Given the description of an element on the screen output the (x, y) to click on. 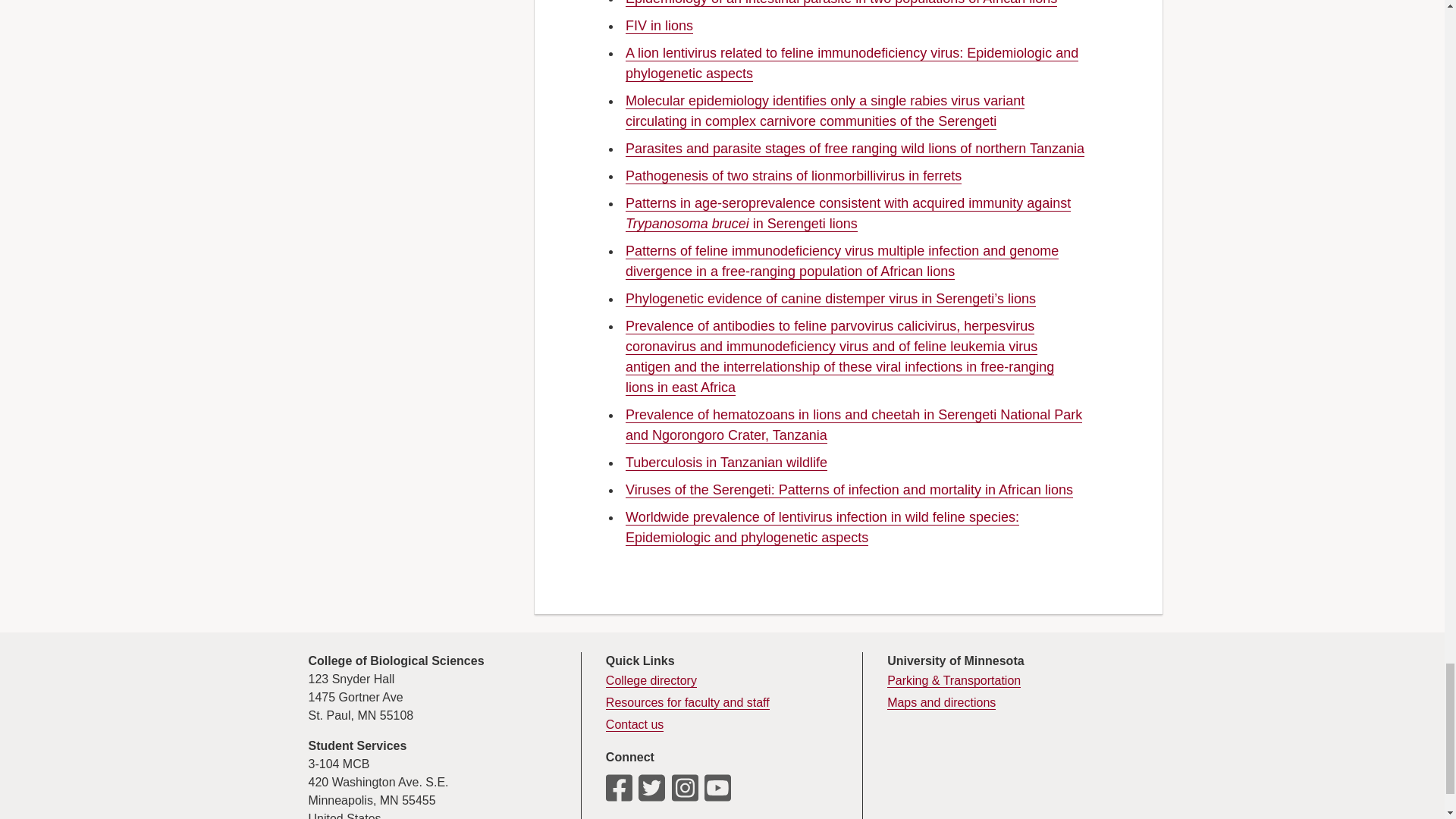
UMN CBS Facebook (618, 793)
UMN CBS Youtube (717, 793)
UMN CBS Twitter (652, 793)
UMN CBS Instagram (684, 793)
